Given the description of an element on the screen output the (x, y) to click on. 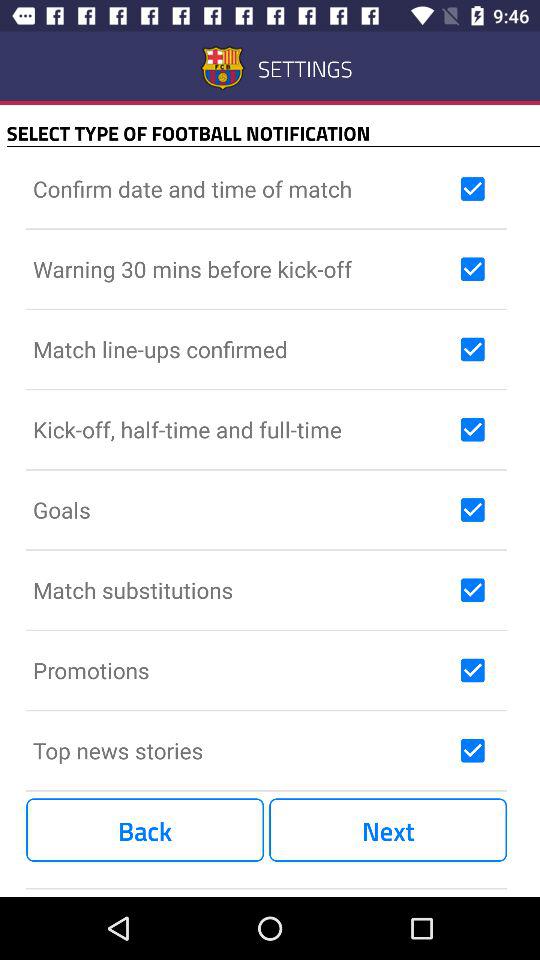
scroll to back icon (145, 829)
